Given the description of an element on the screen output the (x, y) to click on. 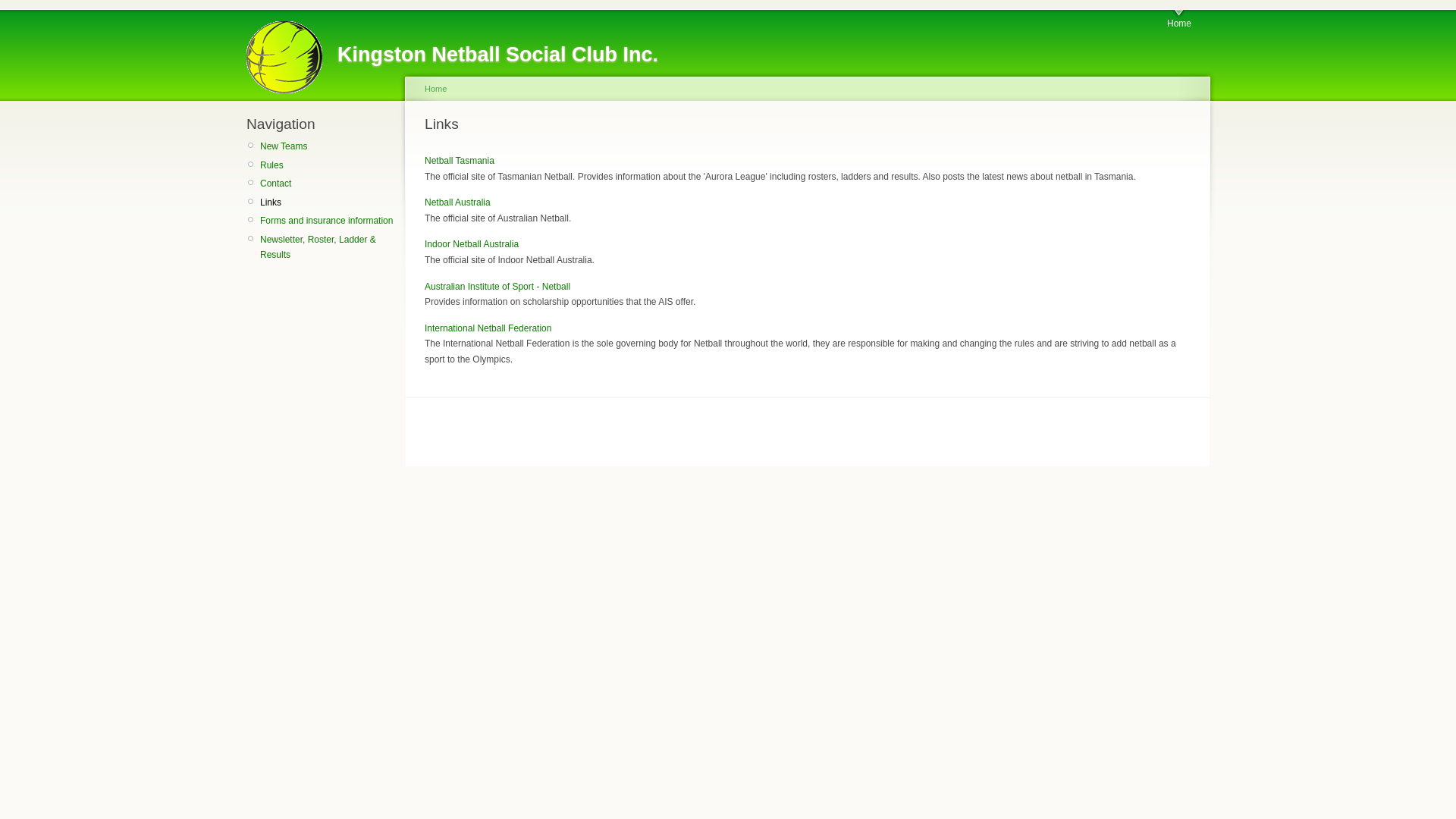
Forms and insurance information Element type: text (327, 220)
Home Element type: text (1179, 20)
Australian Institute of Sport - Netball Element type: text (497, 286)
Newsletter, Roster, Ladder & Results Element type: text (327, 247)
Netball Tasmania Element type: text (459, 160)
Home Element type: text (435, 88)
Netball Australia Element type: text (457, 202)
Rules Element type: text (327, 164)
Links Element type: text (327, 202)
Indoor Netball Australia Element type: text (471, 243)
Kingston Netball Social Club Inc. Element type: text (497, 54)
International Netball Federation Element type: text (487, 328)
New Teams Element type: text (327, 145)
Contact Element type: text (327, 183)
